Given the description of an element on the screen output the (x, y) to click on. 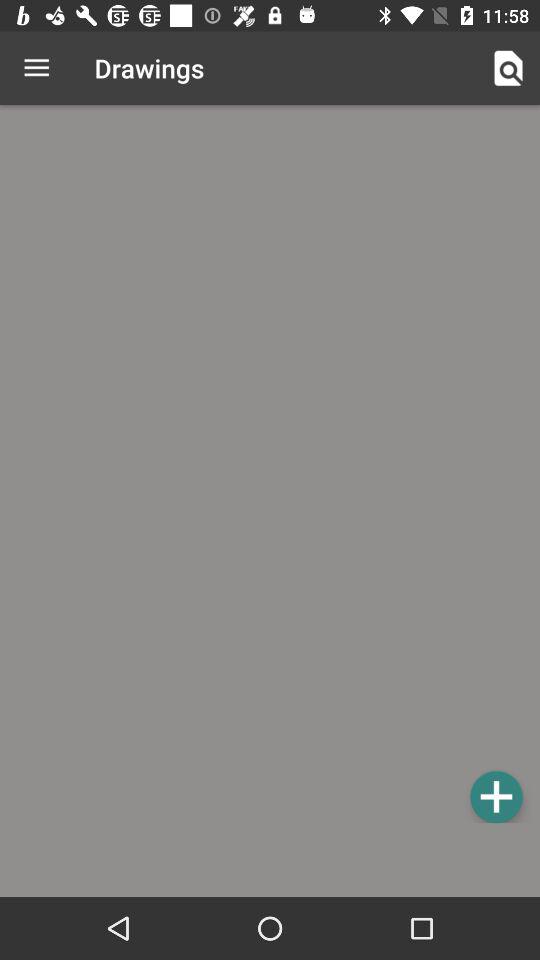
area for drawing (269, 467)
